Given the description of an element on the screen output the (x, y) to click on. 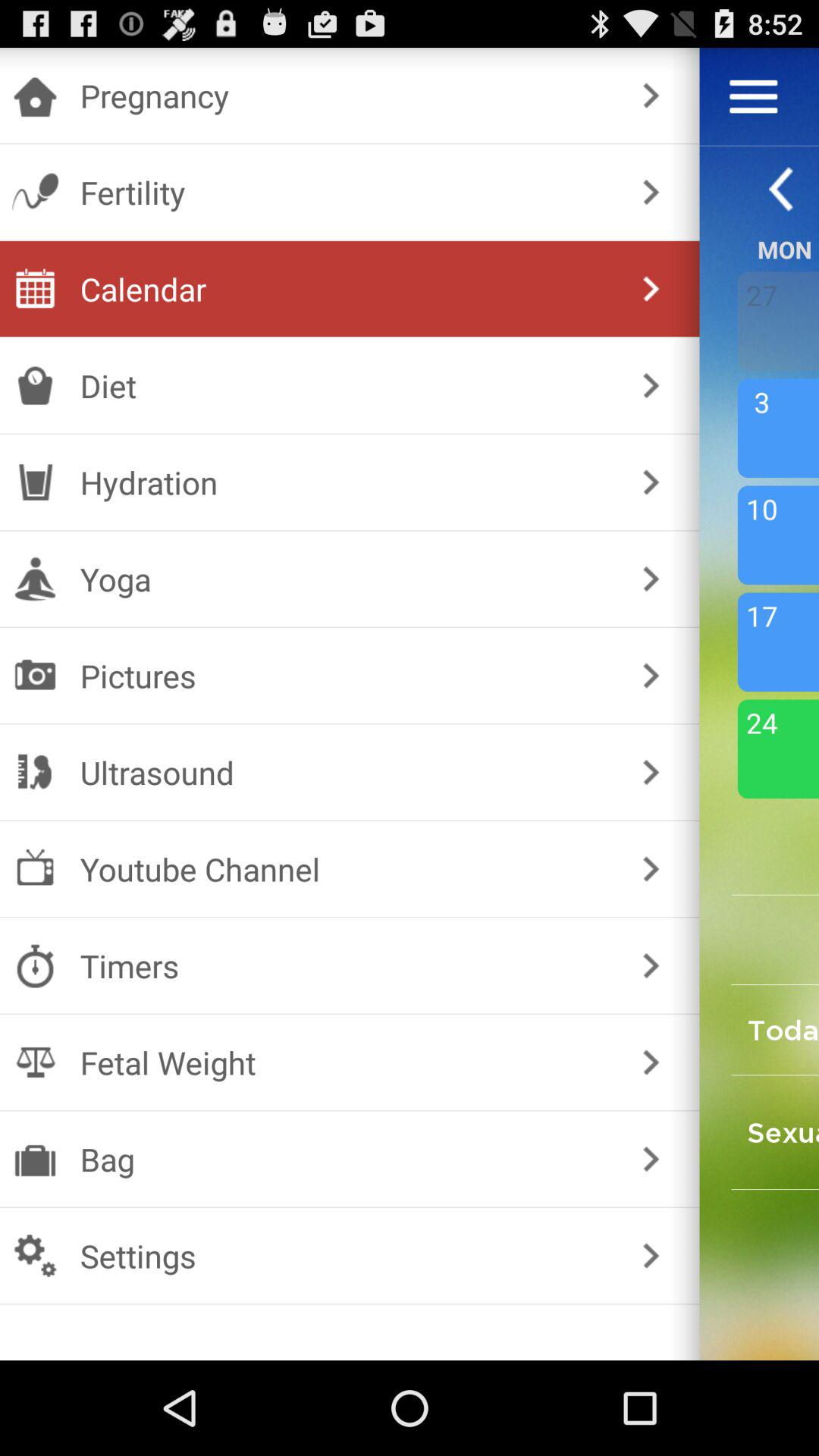
open the item above bag item (346, 1062)
